Given the description of an element on the screen output the (x, y) to click on. 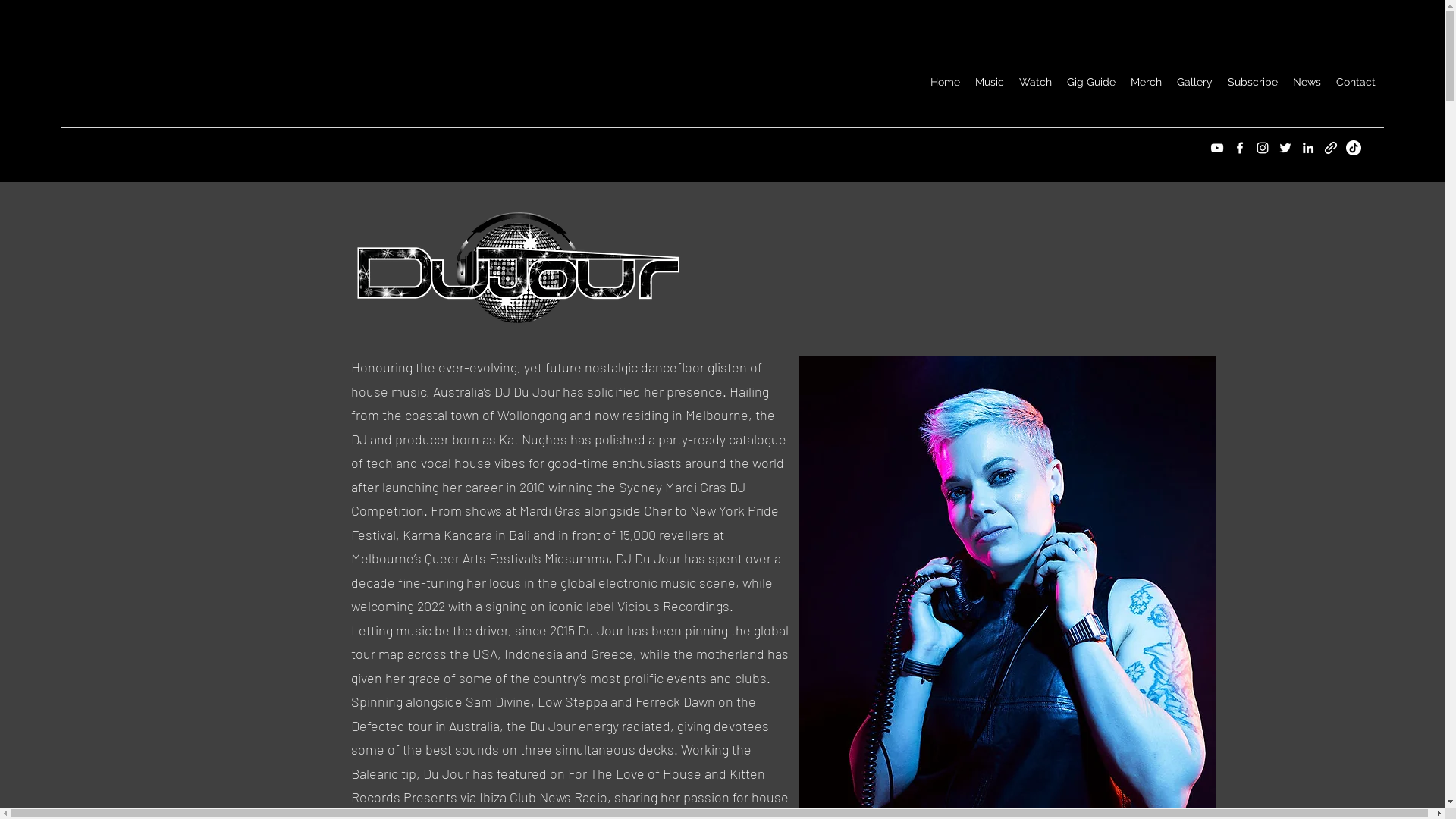
Gallery Element type: text (1194, 81)
Subscribe Element type: text (1252, 81)
Watch Element type: text (1035, 81)
Music Element type: text (989, 81)
Contact Element type: text (1355, 81)
Home Element type: text (944, 81)
Merch Element type: text (1146, 81)
Gig Guide Element type: text (1091, 81)
News Element type: text (1306, 81)
